Given the description of an element on the screen output the (x, y) to click on. 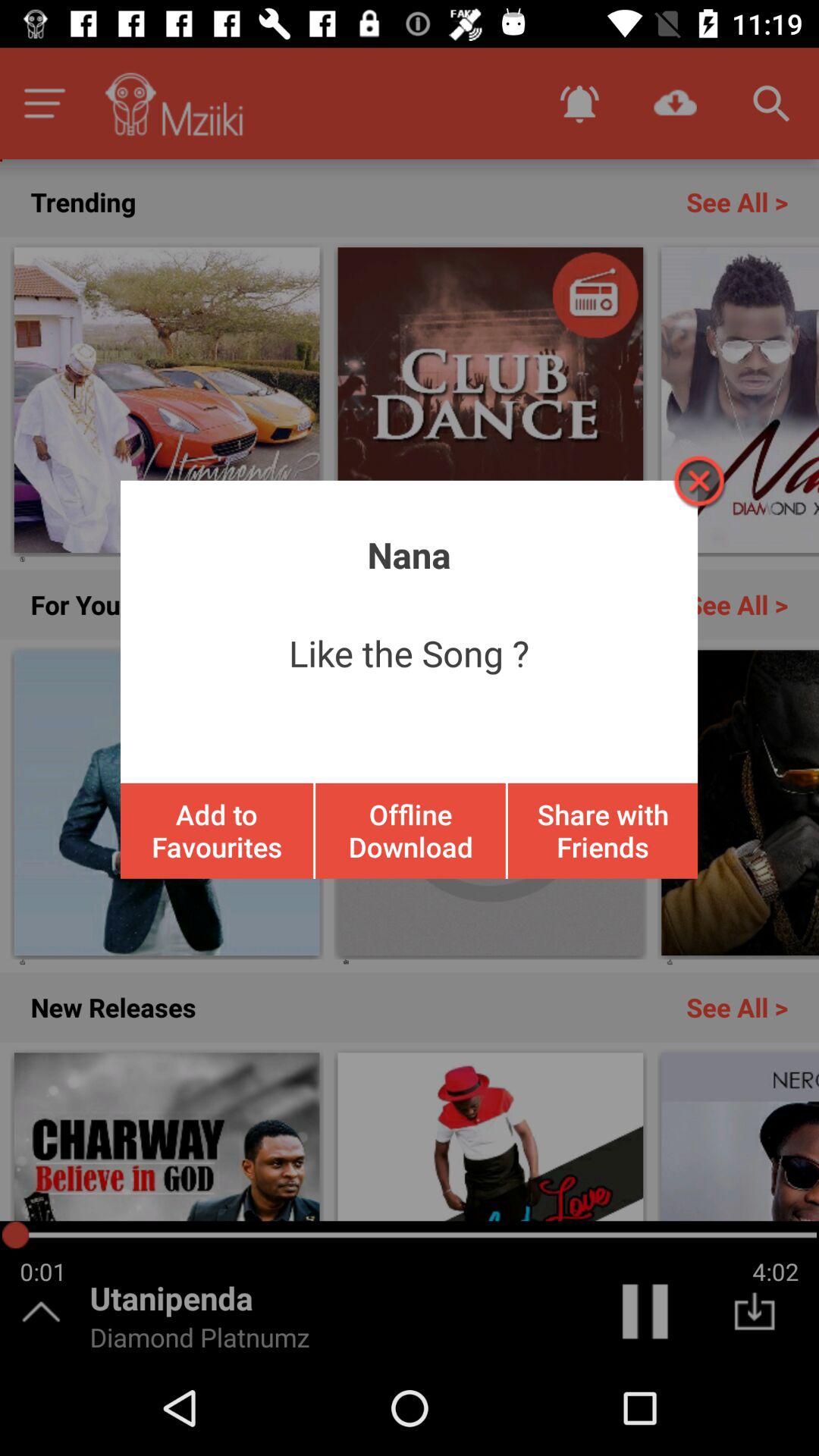
tap the item next to add to favourites (410, 830)
